Given the description of an element on the screen output the (x, y) to click on. 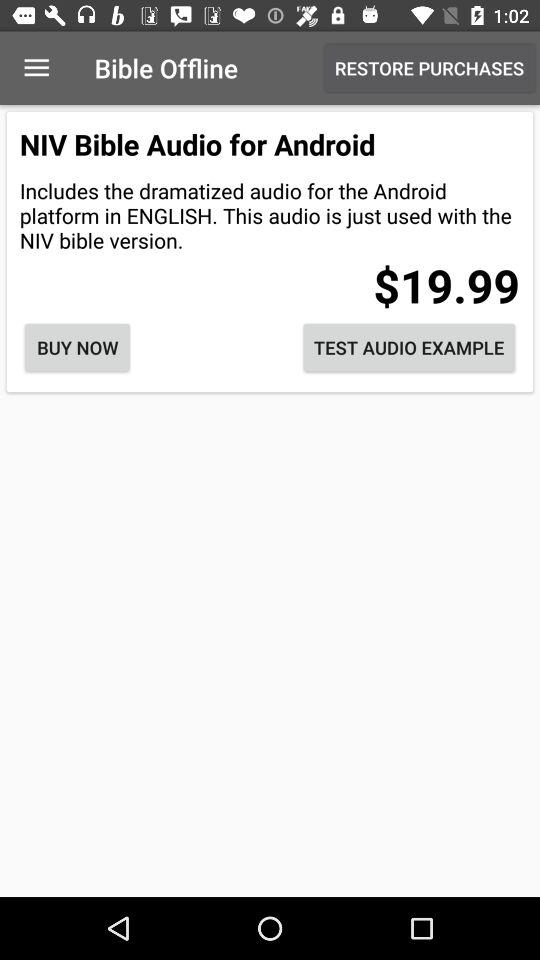
select the restore purchases (429, 67)
